Given the description of an element on the screen output the (x, y) to click on. 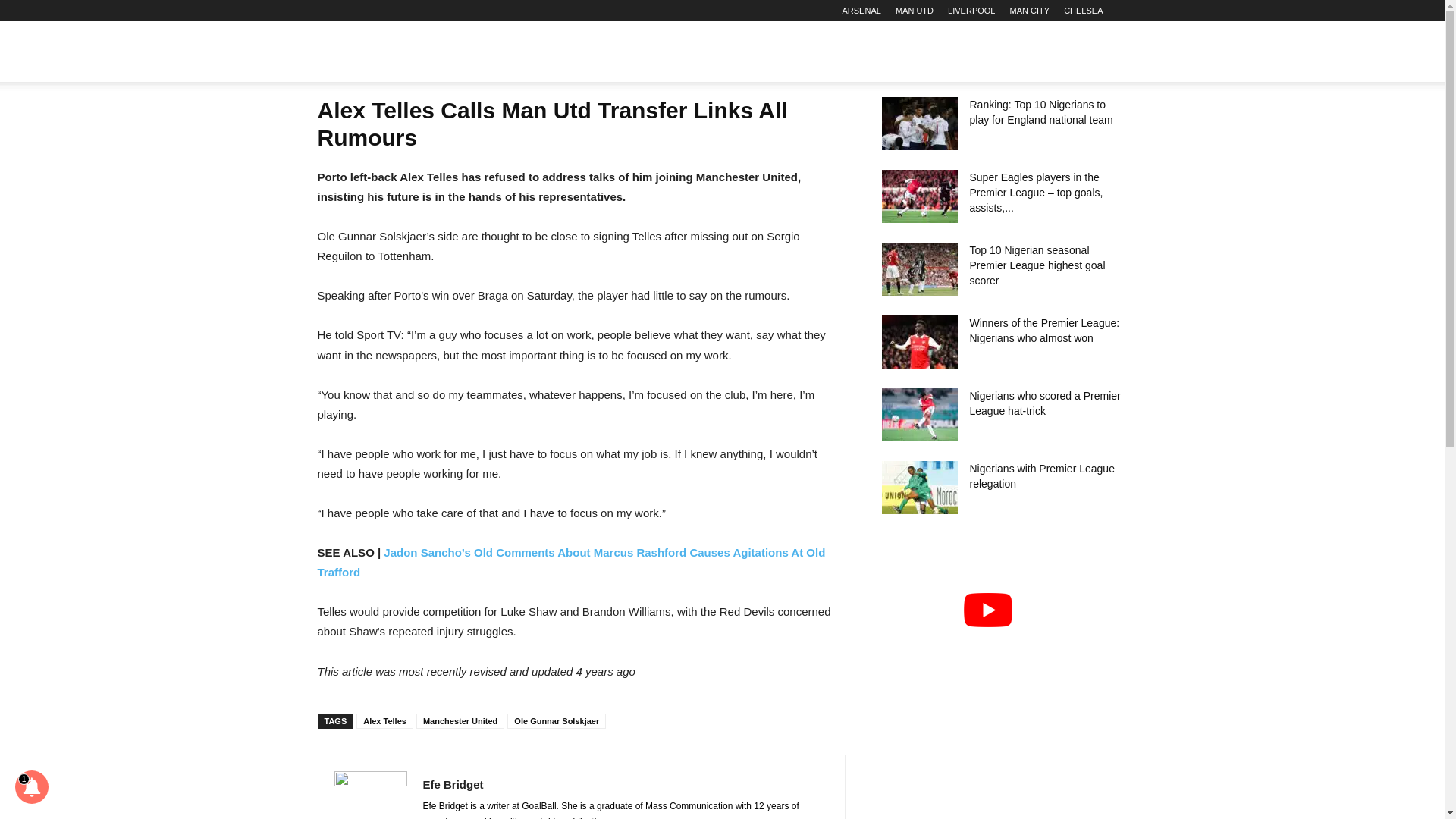
Top 10 Nigerian seasonal Premier League highest goal scorer (918, 268)
Ranking: Top 10 Nigerians to play for England national team (1040, 112)
LIVERPOOL (970, 10)
GOALBALL (392, 52)
ARSENAL (860, 10)
MAN UTD (914, 10)
Ranking: Top 10 Nigerians to play for England national team (918, 123)
